Given the description of an element on the screen output the (x, y) to click on. 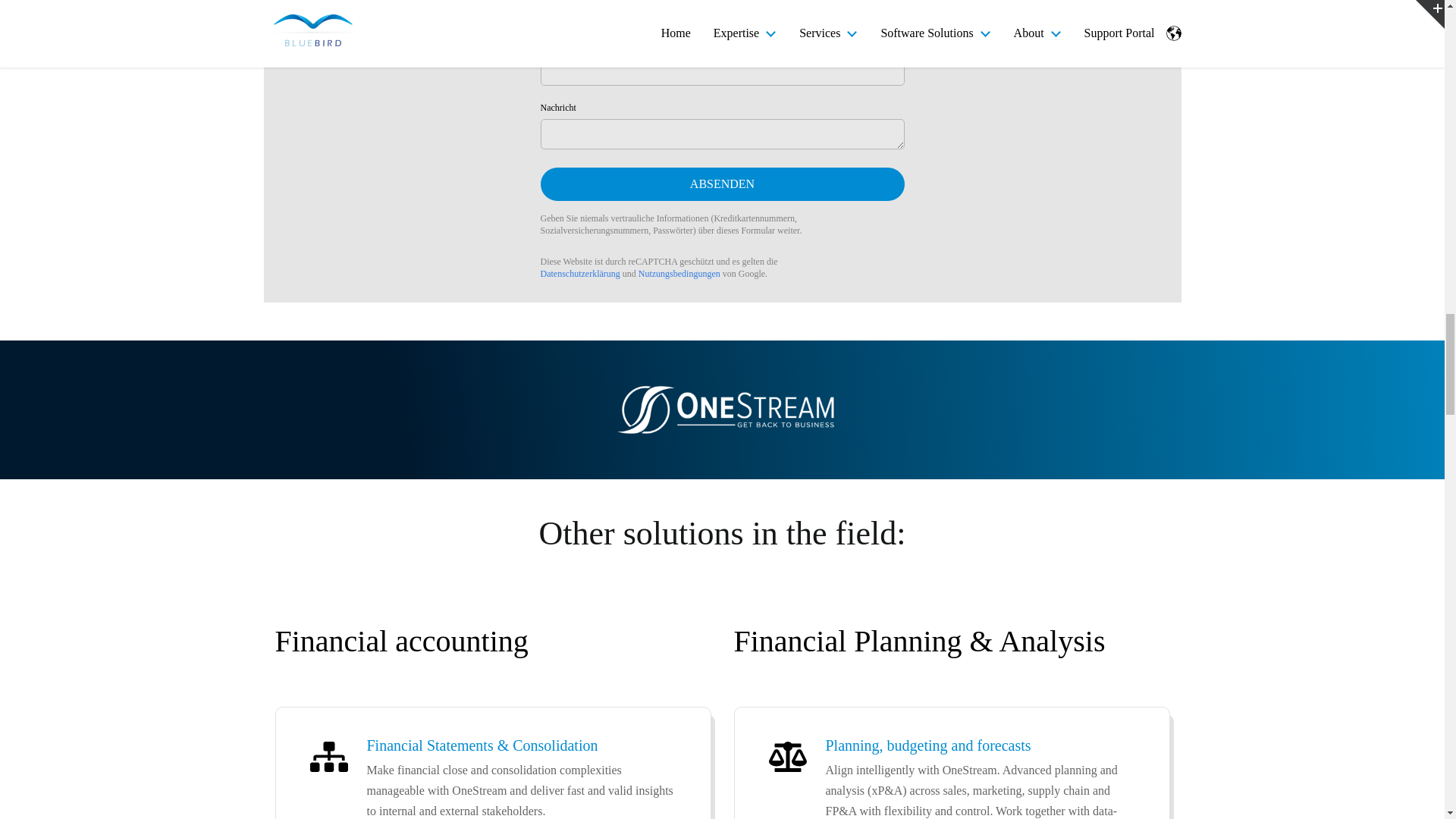
Absenden (722, 183)
